Given the description of an element on the screen output the (x, y) to click on. 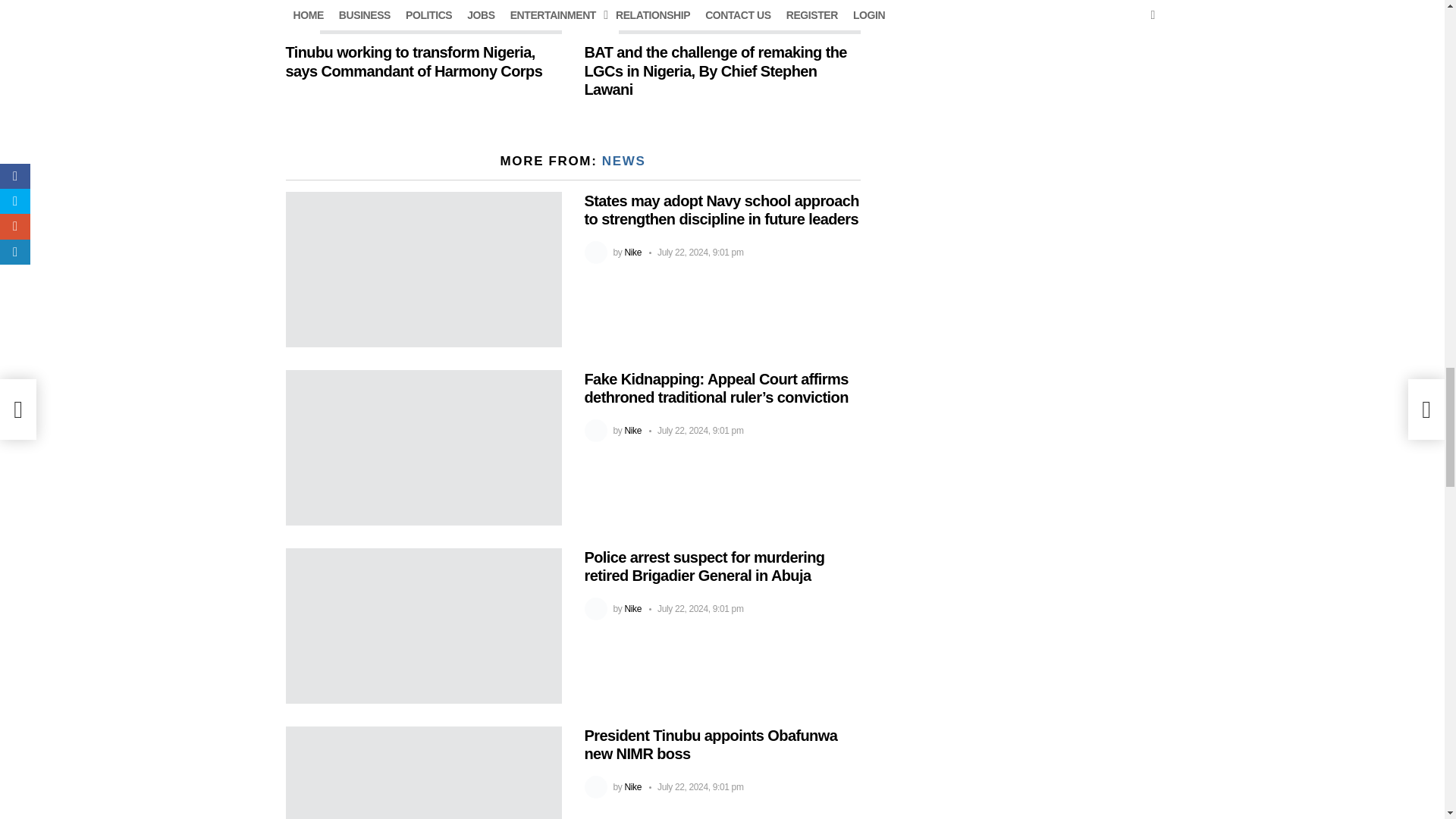
Posts by Nike (633, 252)
Posts by Nike (633, 430)
